Given the description of an element on the screen output the (x, y) to click on. 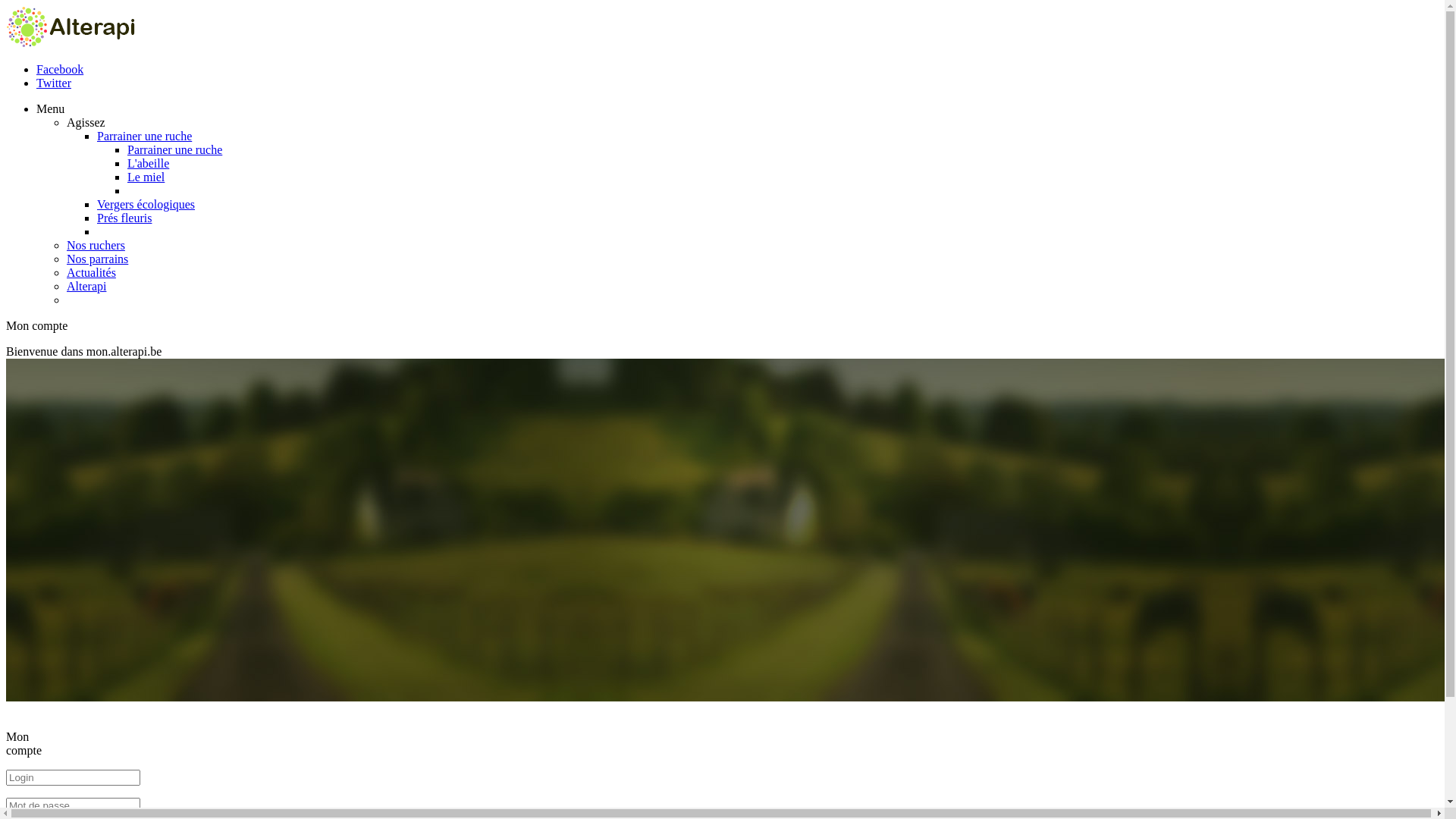
Twitter Element type: text (53, 82)
Alterapi Element type: text (86, 285)
Le miel Element type: text (145, 176)
Parrainer une ruche Element type: text (174, 149)
Nos parrains Element type: text (97, 258)
Parrainer une ruche Element type: text (144, 135)
Accueil Element type: hover (70, 43)
Nos ruchers Element type: text (95, 244)
Facebook Element type: text (59, 68)
L'abeille Element type: text (148, 162)
